Given the description of an element on the screen output the (x, y) to click on. 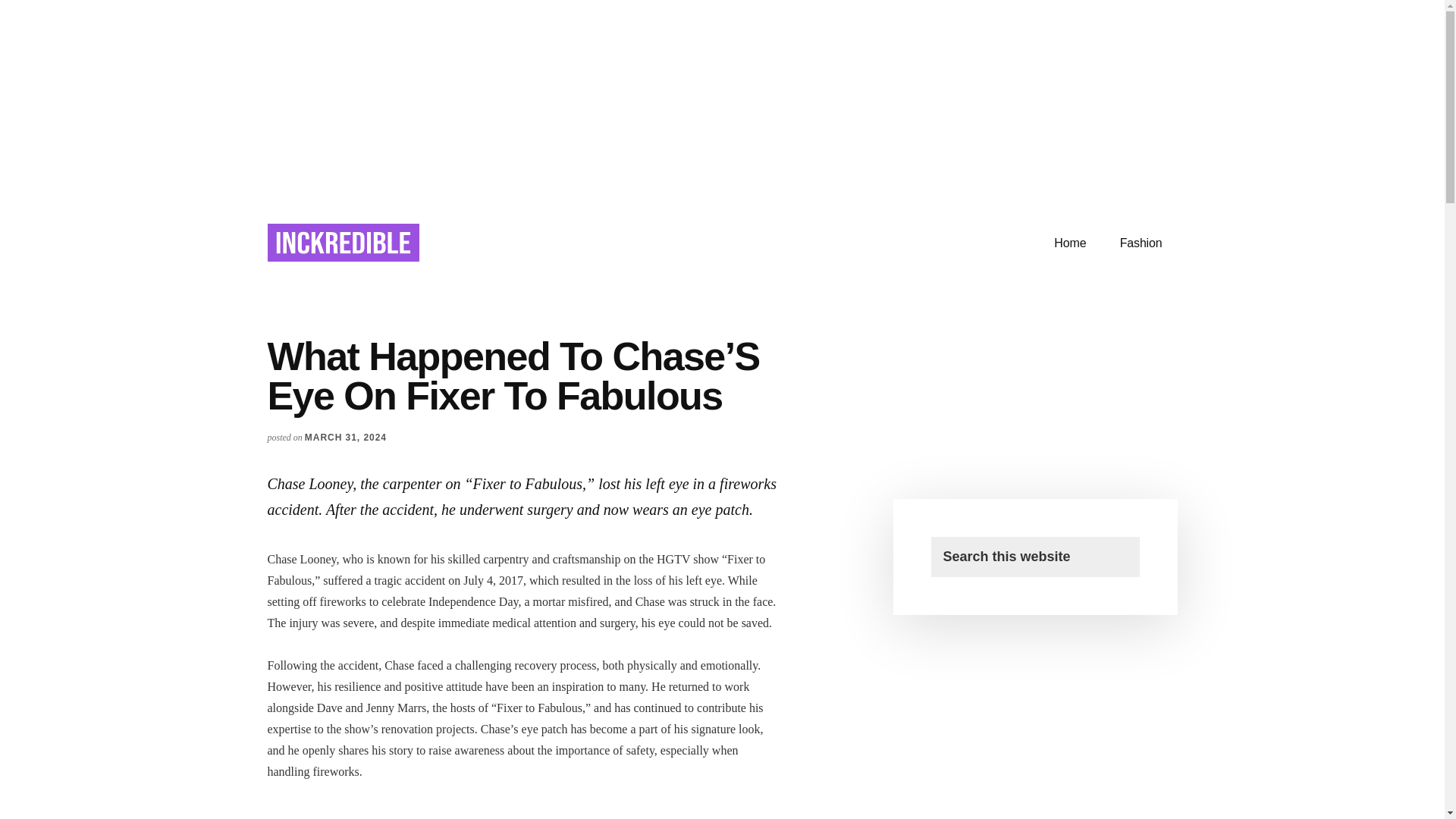
Advertisement (721, 100)
Advertisement (524, 811)
Advertisement (1034, 437)
Fashion (1141, 242)
Home (1069, 242)
